Given the description of an element on the screen output the (x, y) to click on. 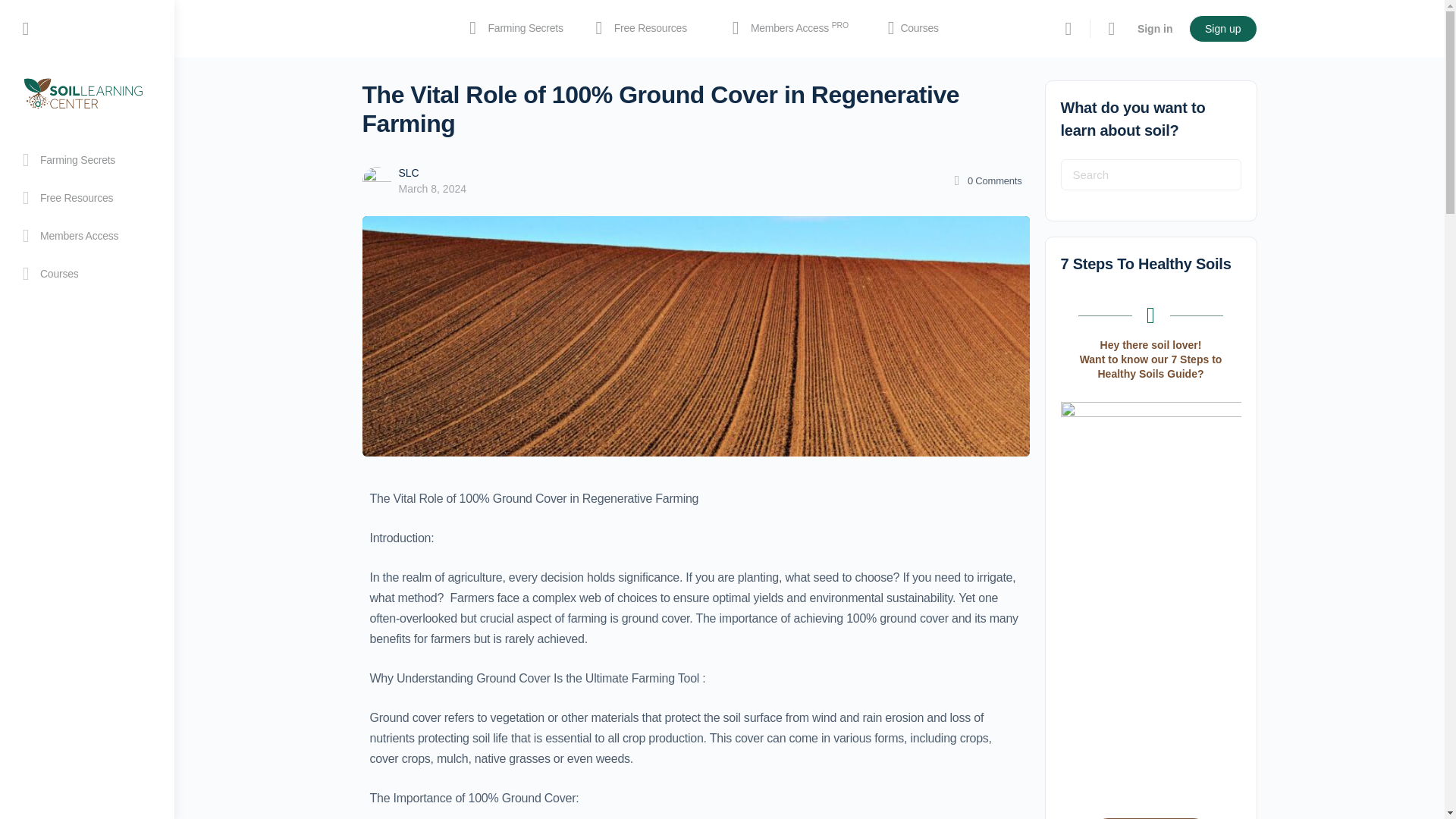
Farming Secrets (513, 28)
Farming Secrets (87, 159)
Courses (87, 235)
Members Access PRO (87, 273)
Free Resources (794, 28)
Free Resources (644, 28)
